Given the description of an element on the screen output the (x, y) to click on. 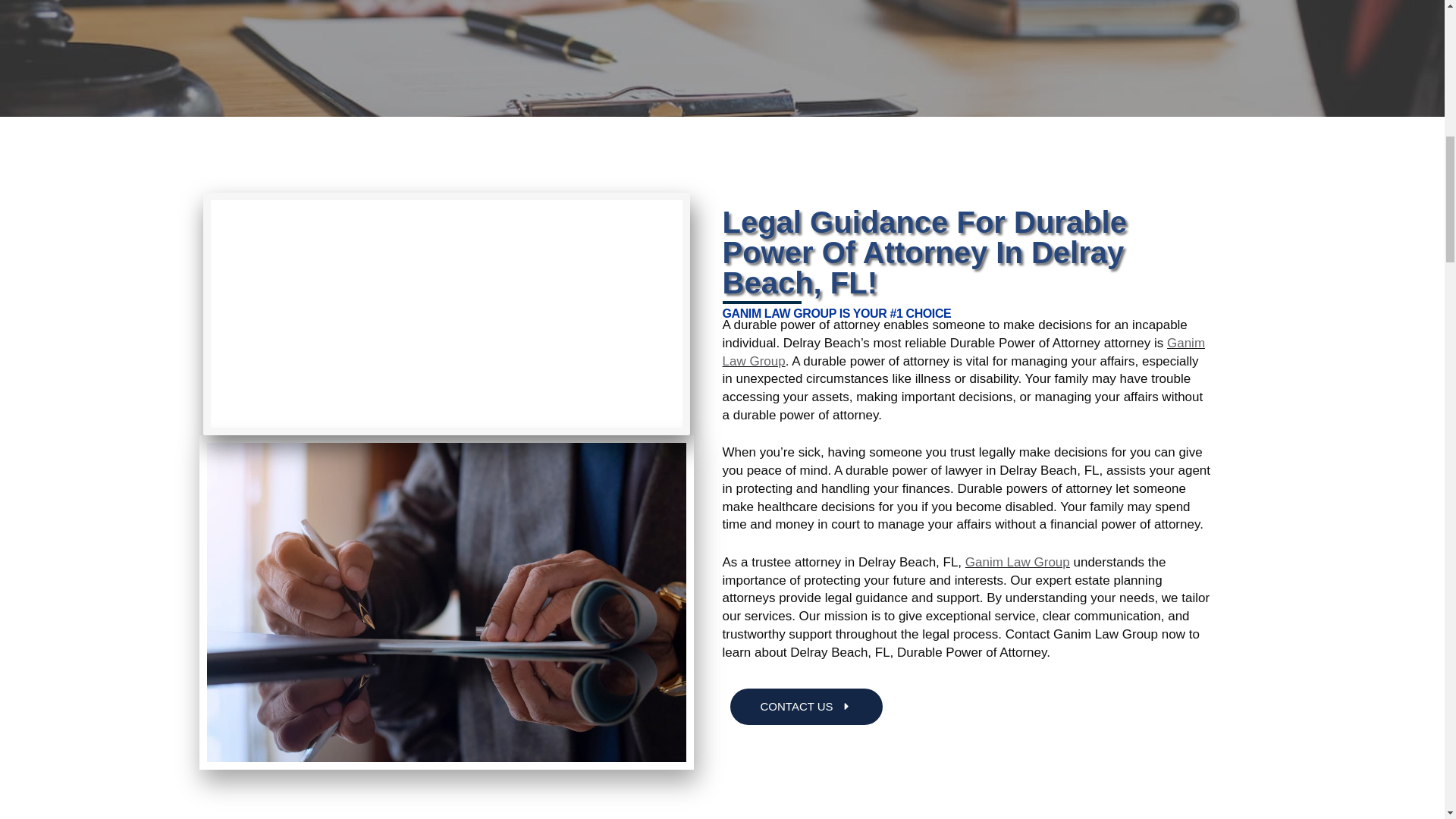
Ganim Law Group (1017, 562)
Ganim Law Group (963, 351)
Delray Beach, FL (446, 313)
CONTACT US (805, 706)
